Given the description of an element on the screen output the (x, y) to click on. 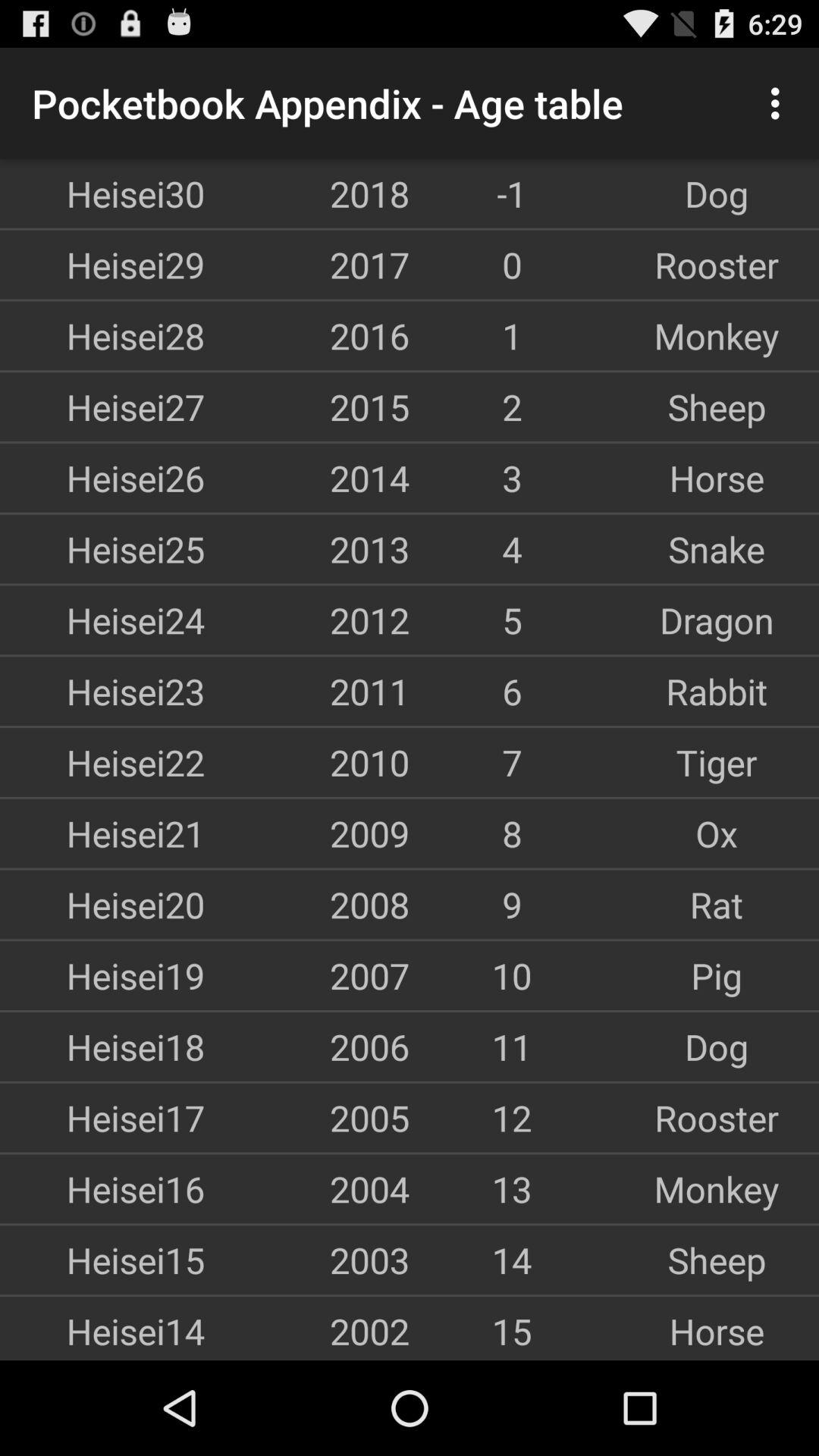
turn off the item next to the 9 icon (716, 904)
